Given the description of an element on the screen output the (x, y) to click on. 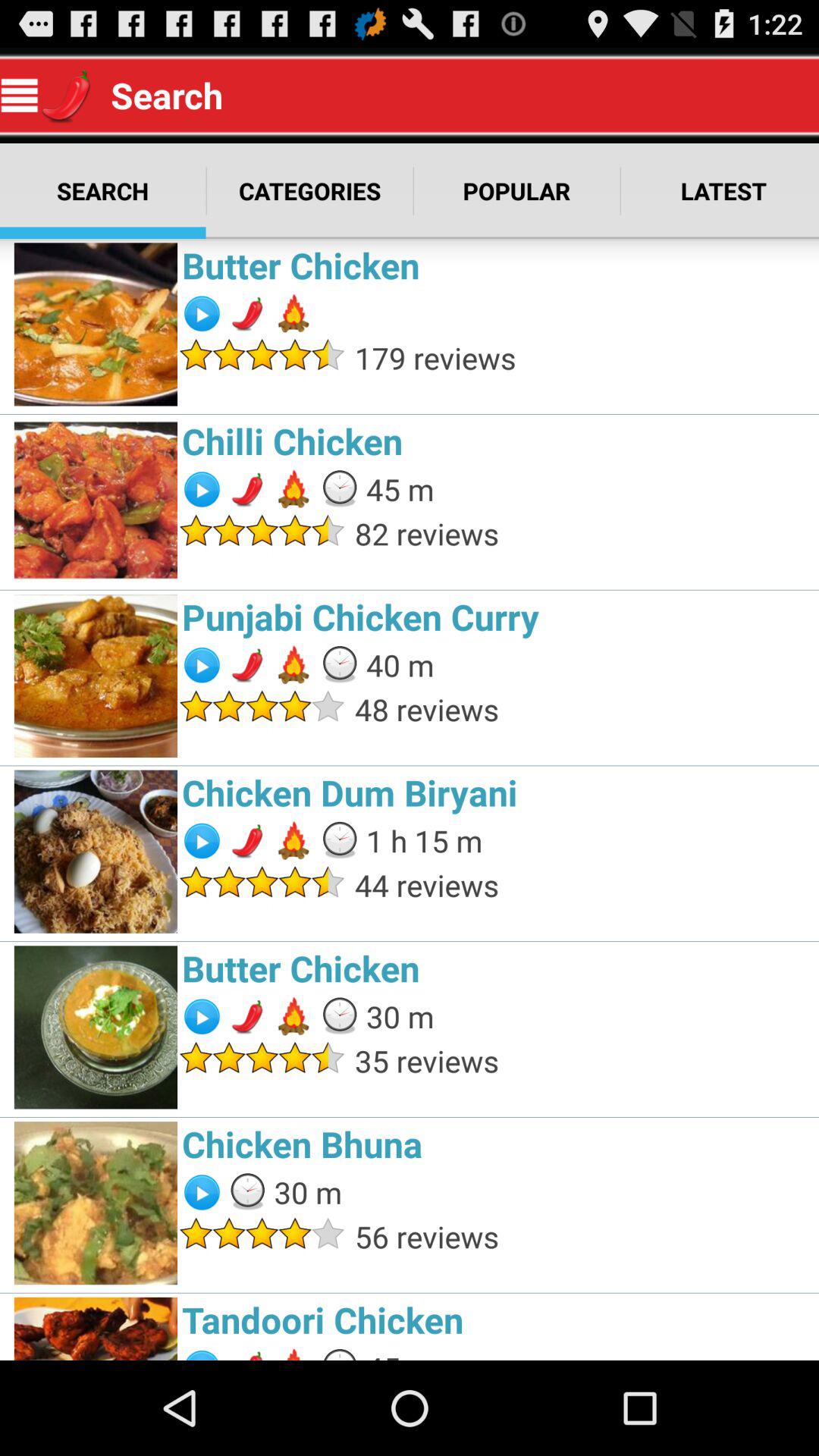
flip to 48 reviews item (582, 709)
